Given the description of an element on the screen output the (x, y) to click on. 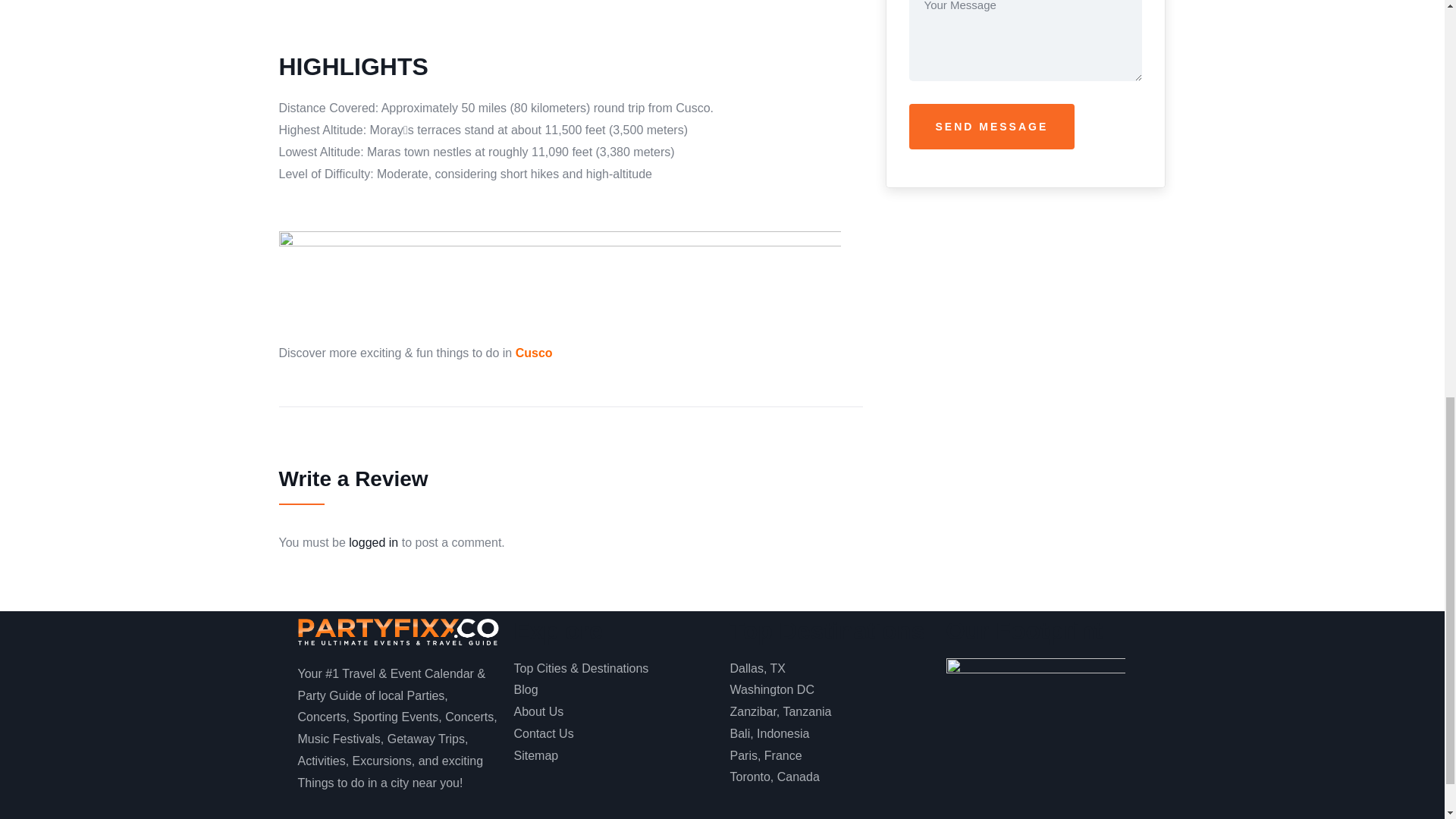
Home (397, 633)
Send message (991, 126)
